Given the description of an element on the screen output the (x, y) to click on. 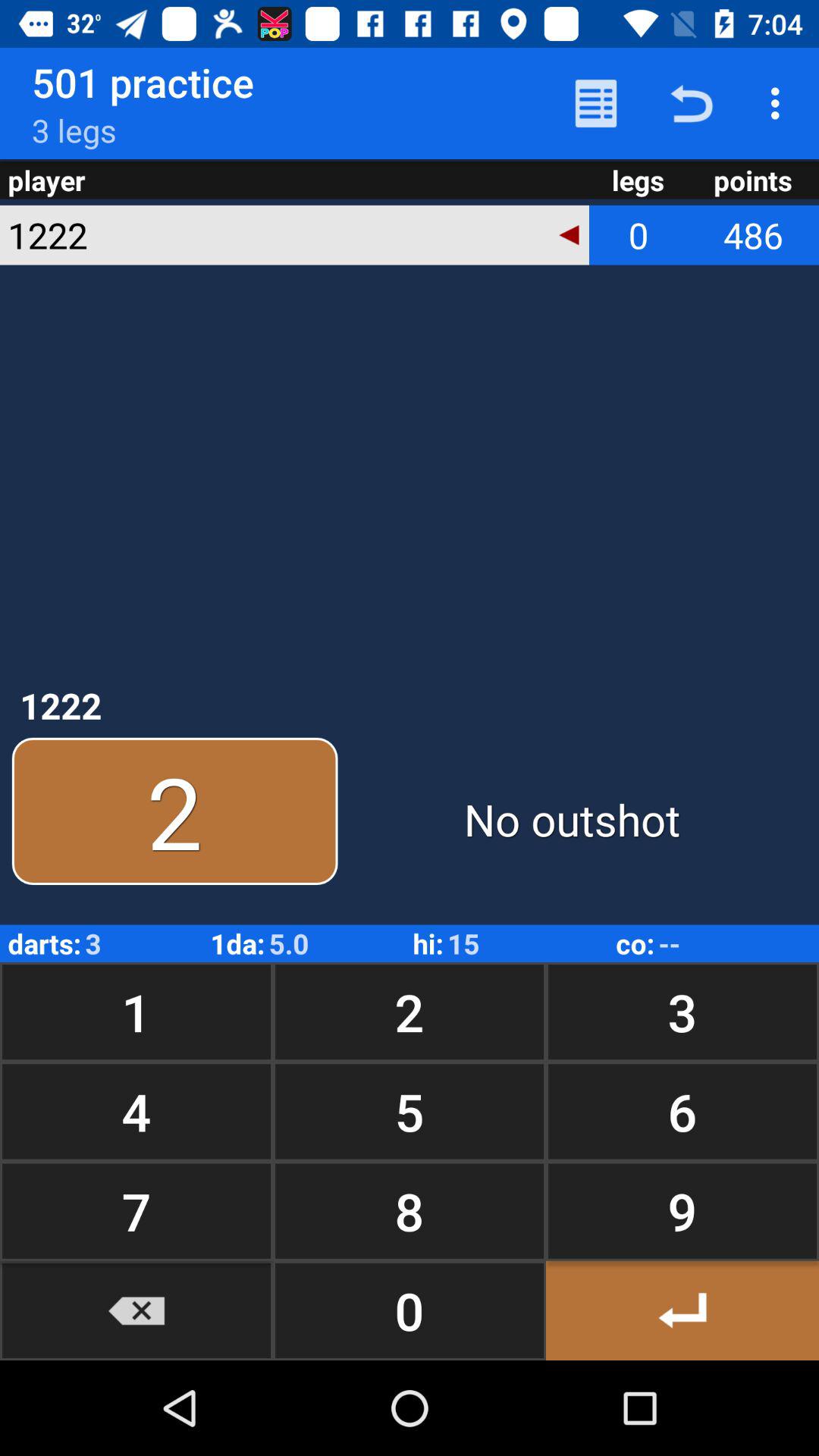
tap button to the left of 8 item (136, 1310)
